Given the description of an element on the screen output the (x, y) to click on. 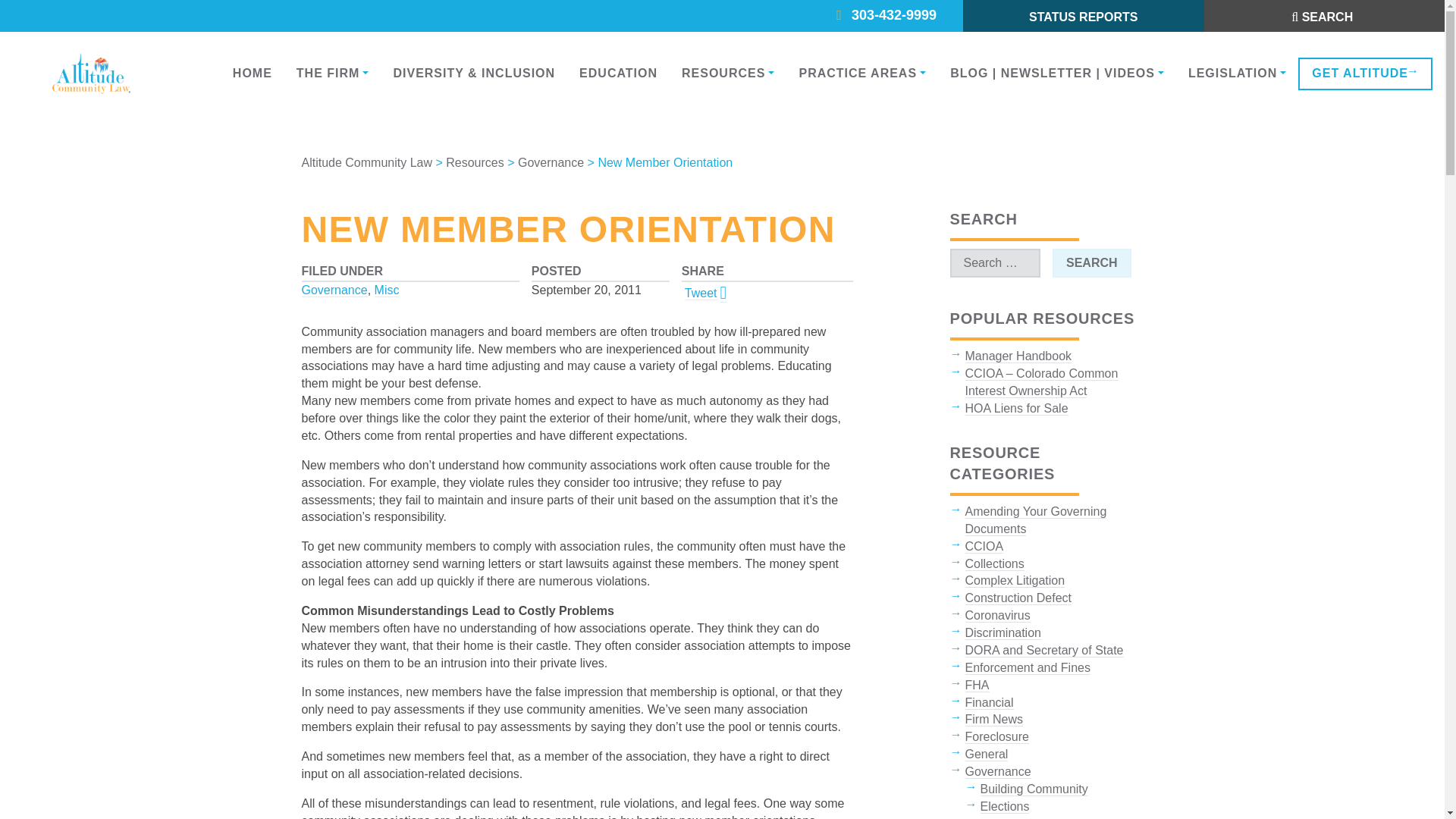
EDUCATION (618, 73)
Misc (386, 290)
Resources (727, 73)
Altitude Community Law (366, 162)
The Firm (332, 73)
Governance (334, 290)
PRACTICE AREAS (861, 73)
STATUS REPORTS (1083, 17)
303-432-9999 (901, 15)
RESOURCES (727, 73)
